Given the description of an element on the screen output the (x, y) to click on. 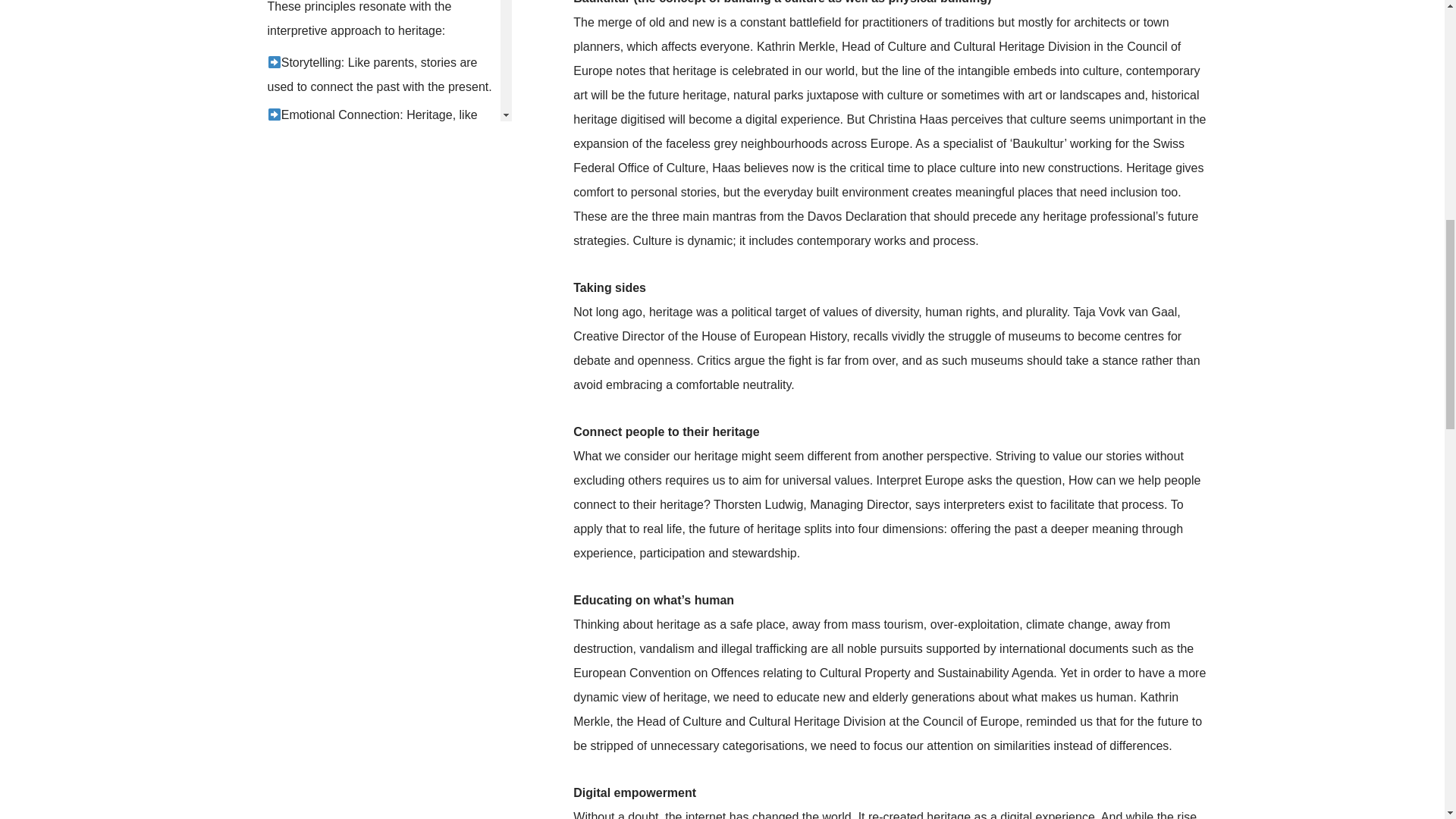
Share (400, 459)
View on Facebook (316, 459)
